Given the description of an element on the screen output the (x, y) to click on. 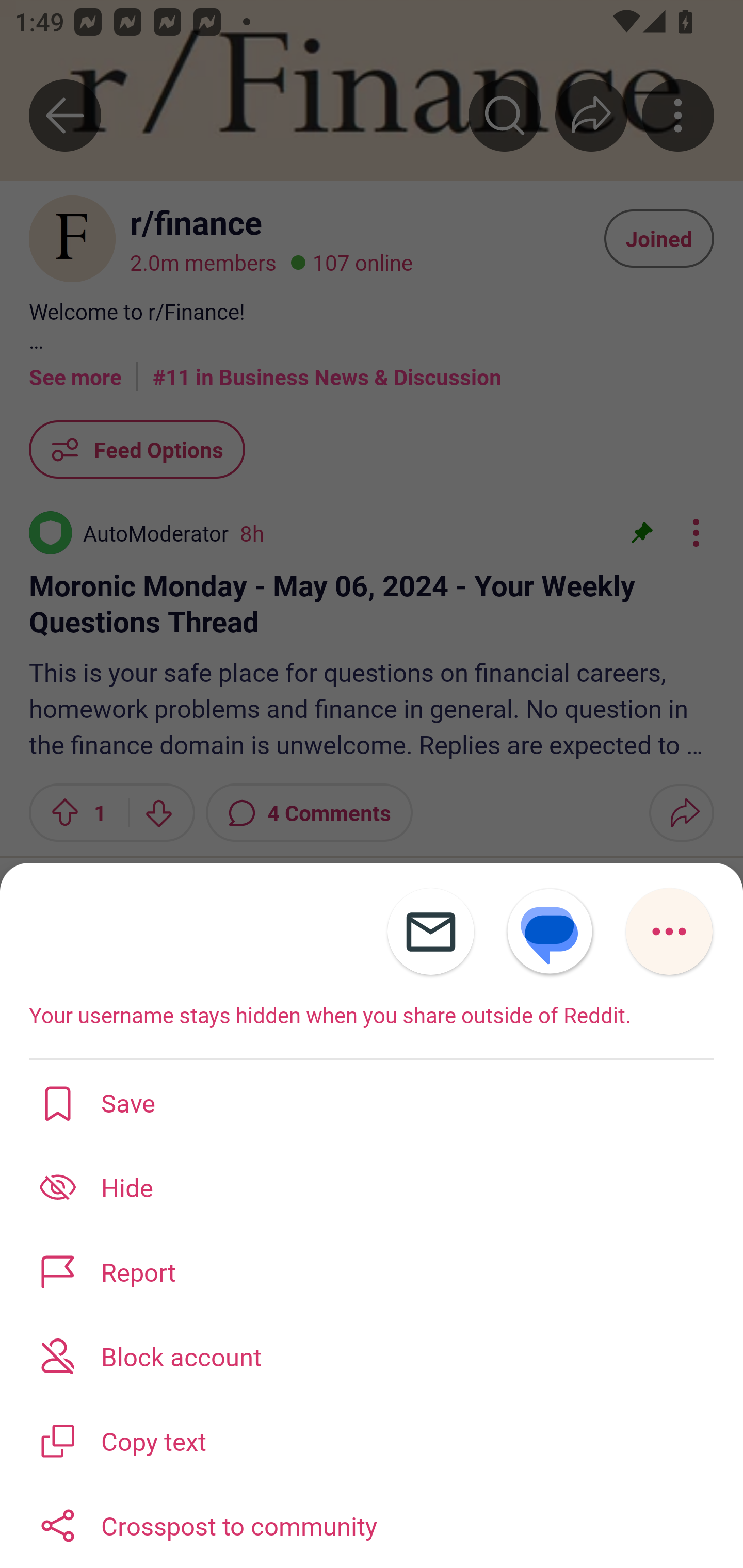
Email (430, 932)
SMS (549, 932)
More (668, 932)
Save (371, 1101)
Hide (371, 1186)
Report (371, 1271)
Block account (371, 1355)
Copy text (371, 1439)
Crosspost to community (371, 1524)
